Given the description of an element on the screen output the (x, y) to click on. 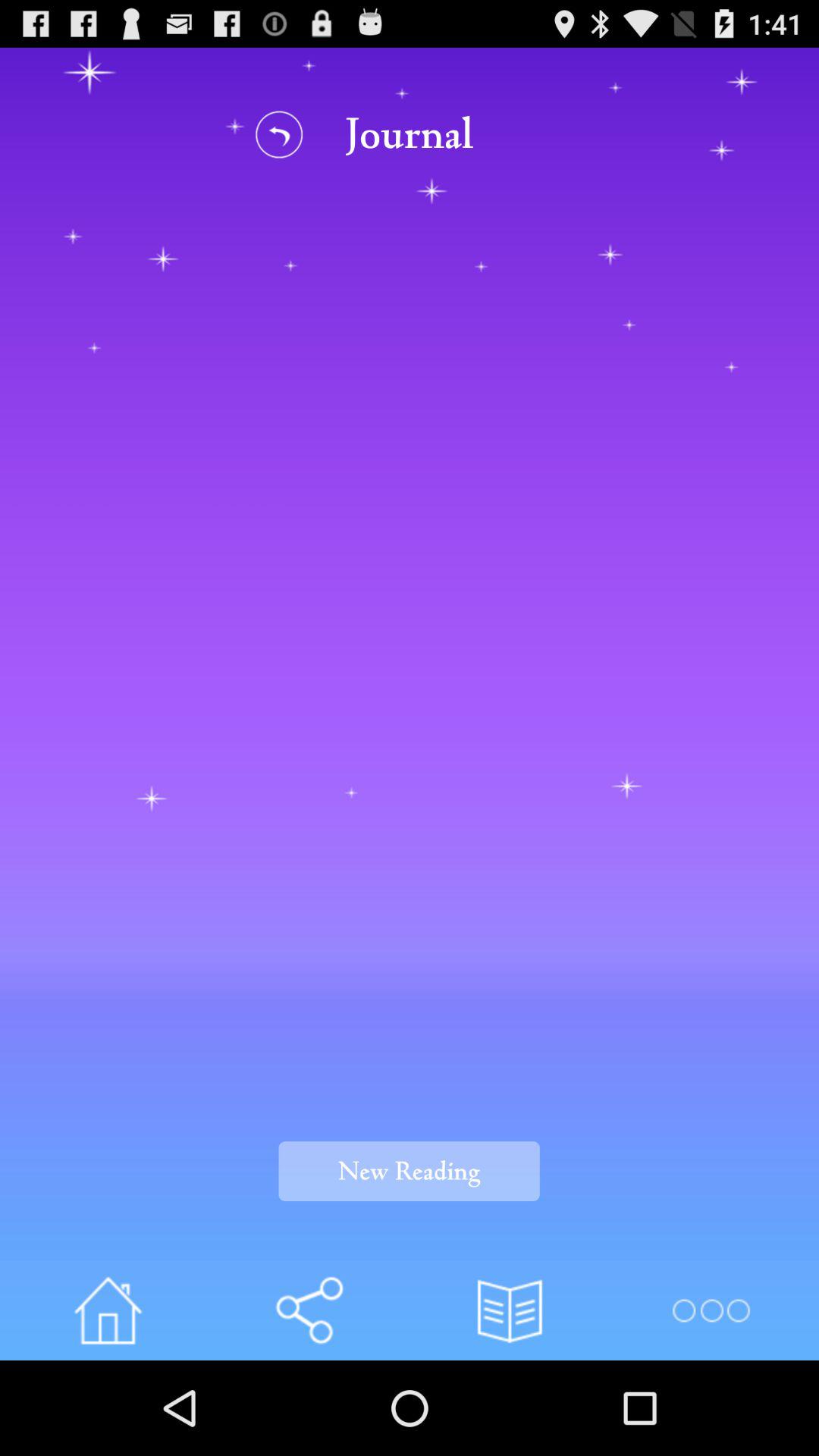
open menu (710, 1310)
